Given the description of an element on the screen output the (x, y) to click on. 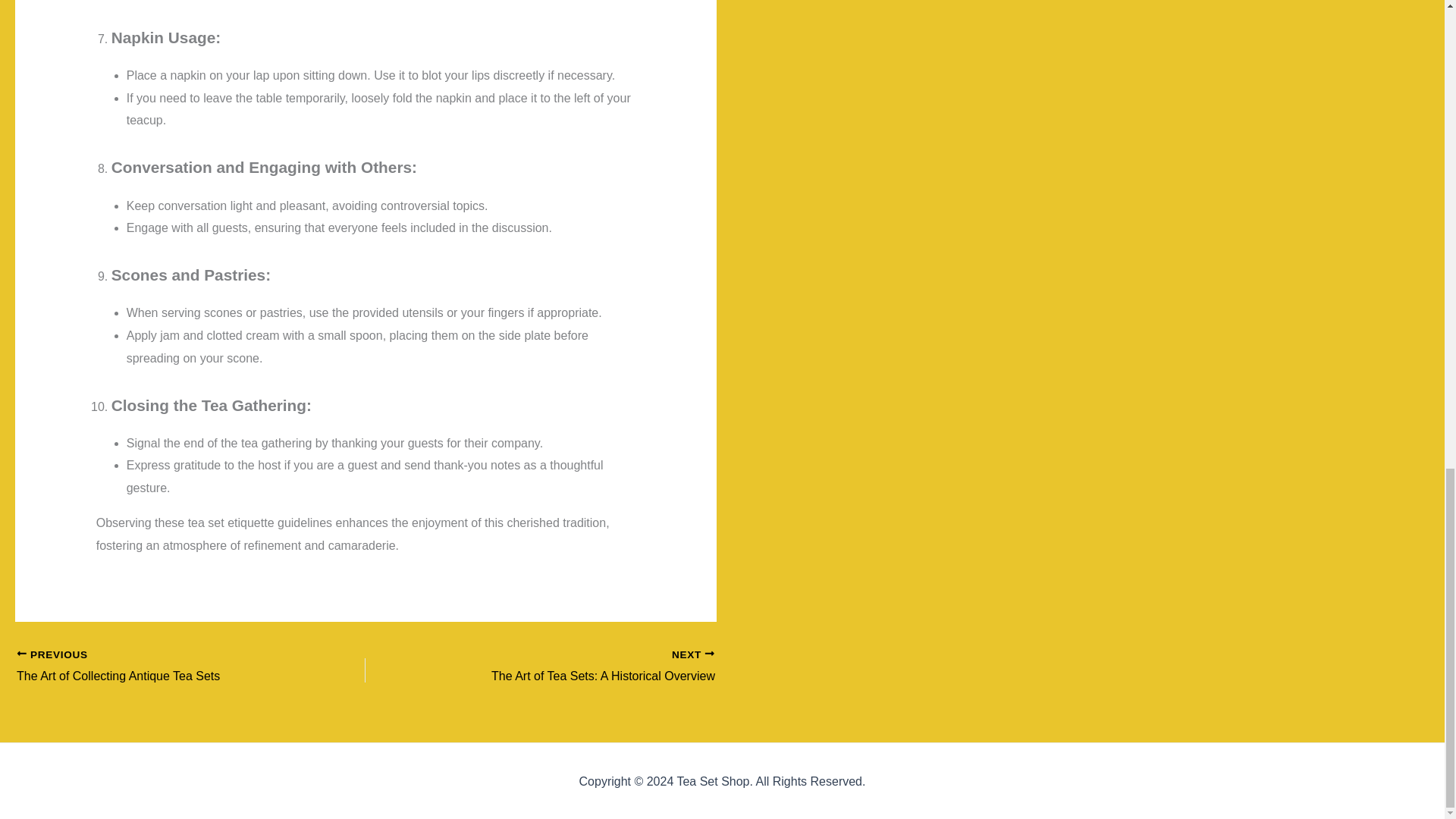
The Art of Collecting Antique Tea Sets (156, 667)
The Art of Tea Sets: A Historical Overview (156, 667)
